Given the description of an element on the screen output the (x, y) to click on. 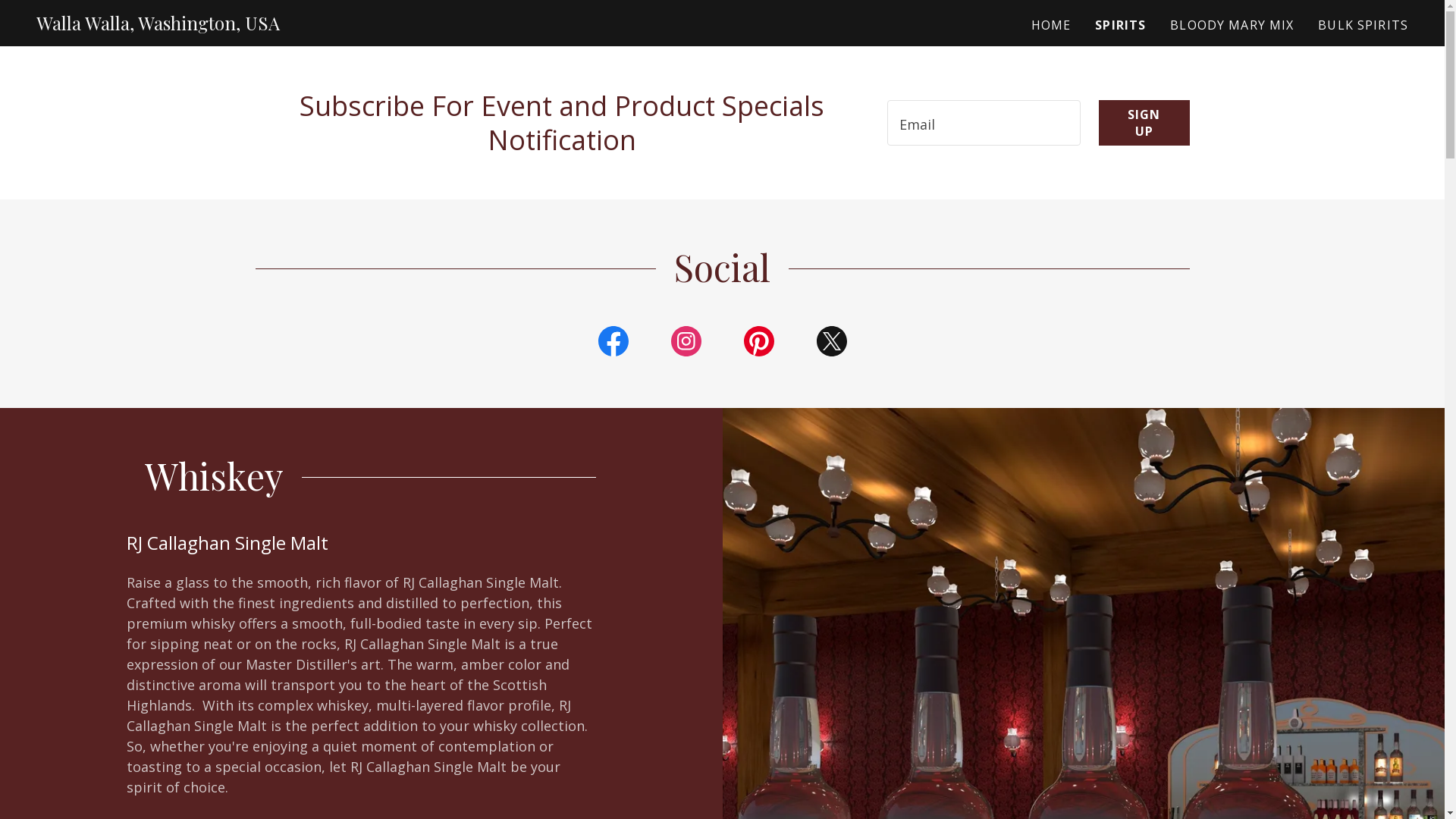
BLOODY MARY MIX Element type: text (1231, 24)
HOME Element type: text (1051, 24)
SIGN UP Element type: text (1143, 122)
SPIRITS Element type: text (1120, 24)
BULK SPIRITS Element type: text (1362, 24)
Walla Walla, Washington, USA Element type: text (157, 24)
